Given the description of an element on the screen output the (x, y) to click on. 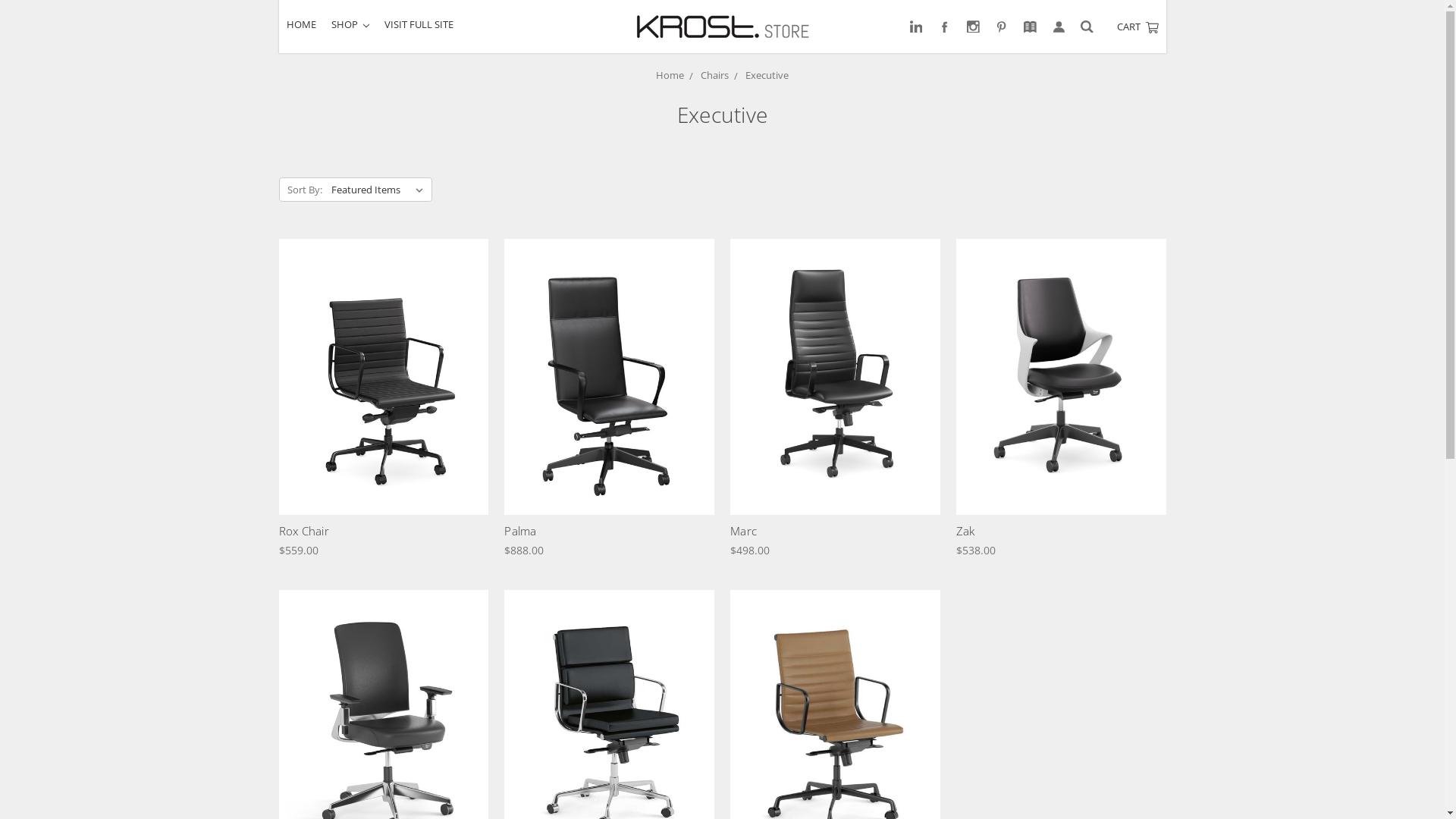
SHOP Element type: text (349, 24)
CART Element type: text (1137, 26)
Zak Element type: text (965, 530)
Executive Element type: text (766, 74)
Rox Chair Element type: hover (382, 376)
Palma Element type: text (520, 530)
VISIT FULL SITE Element type: text (418, 24)
Sign In Element type: hover (1058, 26)
Marc Element type: text (743, 530)
Marc Element type: hover (834, 376)
Rox Chair Element type: text (304, 530)
HOME Element type: text (301, 24)
Krost Business Furniture - Official Online Store Element type: hover (722, 26)
Home Element type: text (669, 74)
Chairs Element type: text (714, 74)
Palma Element type: hover (608, 376)
